Given the description of an element on the screen output the (x, y) to click on. 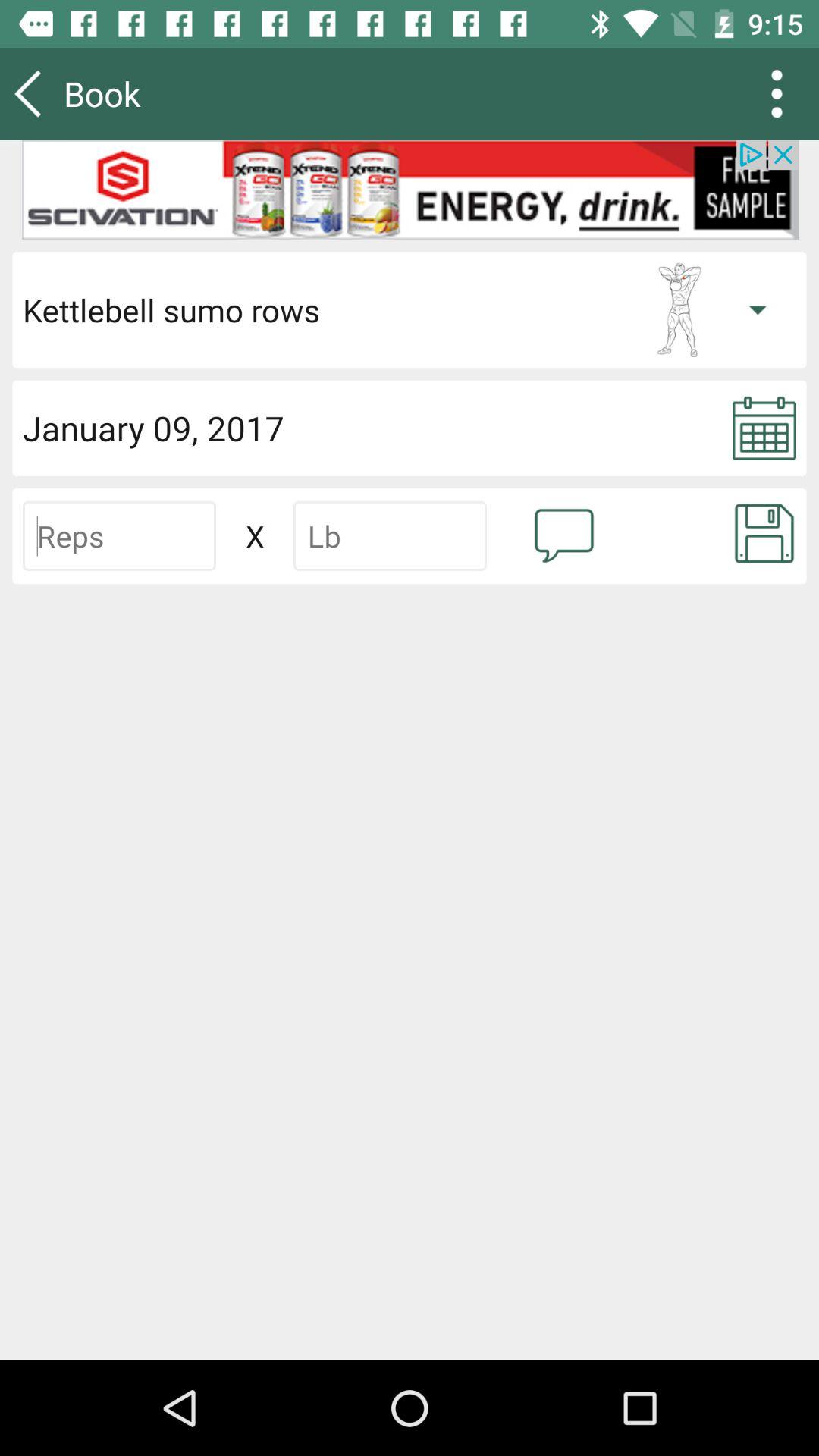
select advertisement (409, 189)
